Given the description of an element on the screen output the (x, y) to click on. 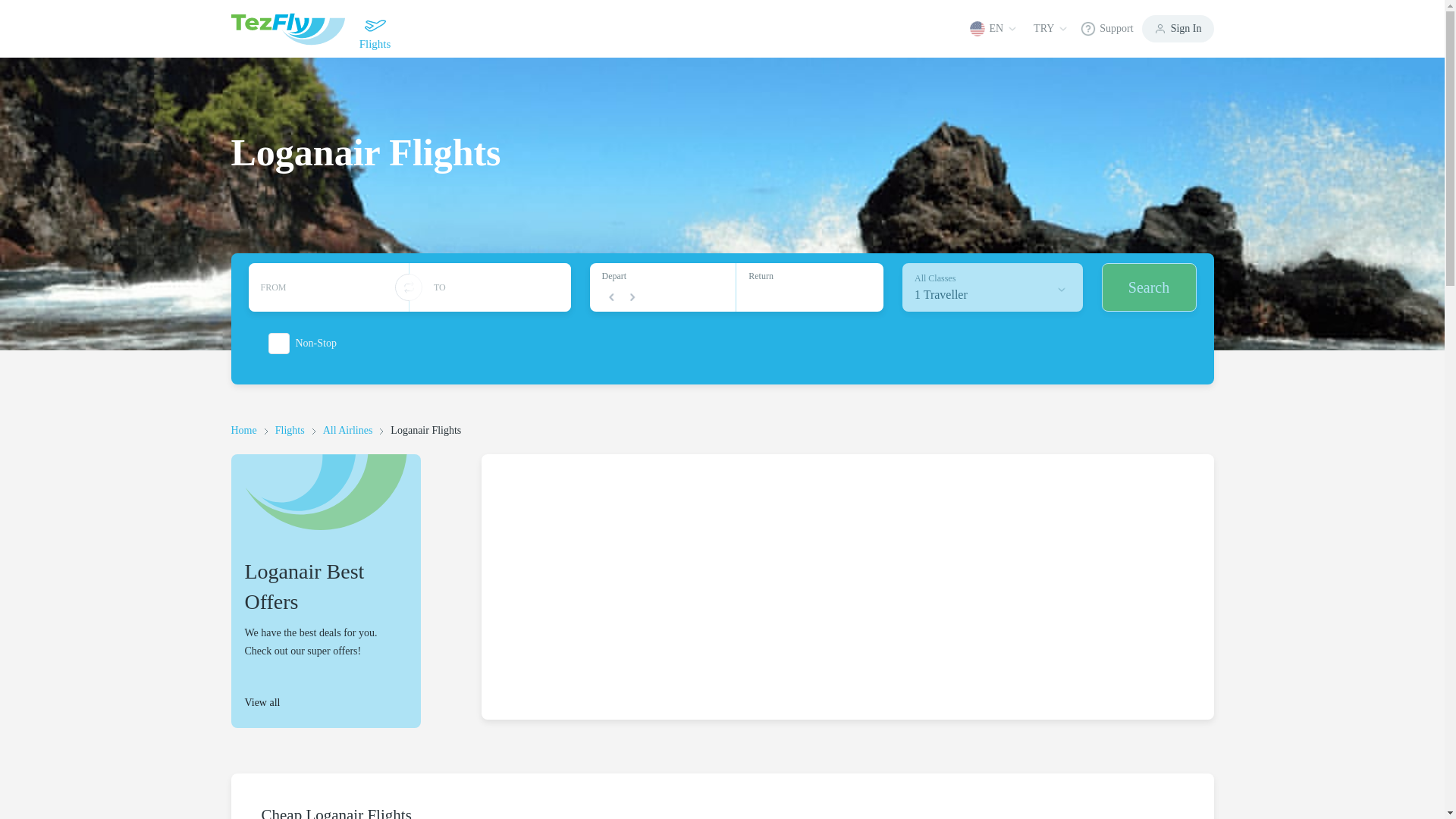
FROM (329, 287)
Flights (289, 430)
Flights (373, 28)
TRY (1050, 28)
Search (1147, 287)
Home (243, 430)
View all (325, 702)
All Airlines (347, 430)
Support (992, 287)
